Given the description of an element on the screen output the (x, y) to click on. 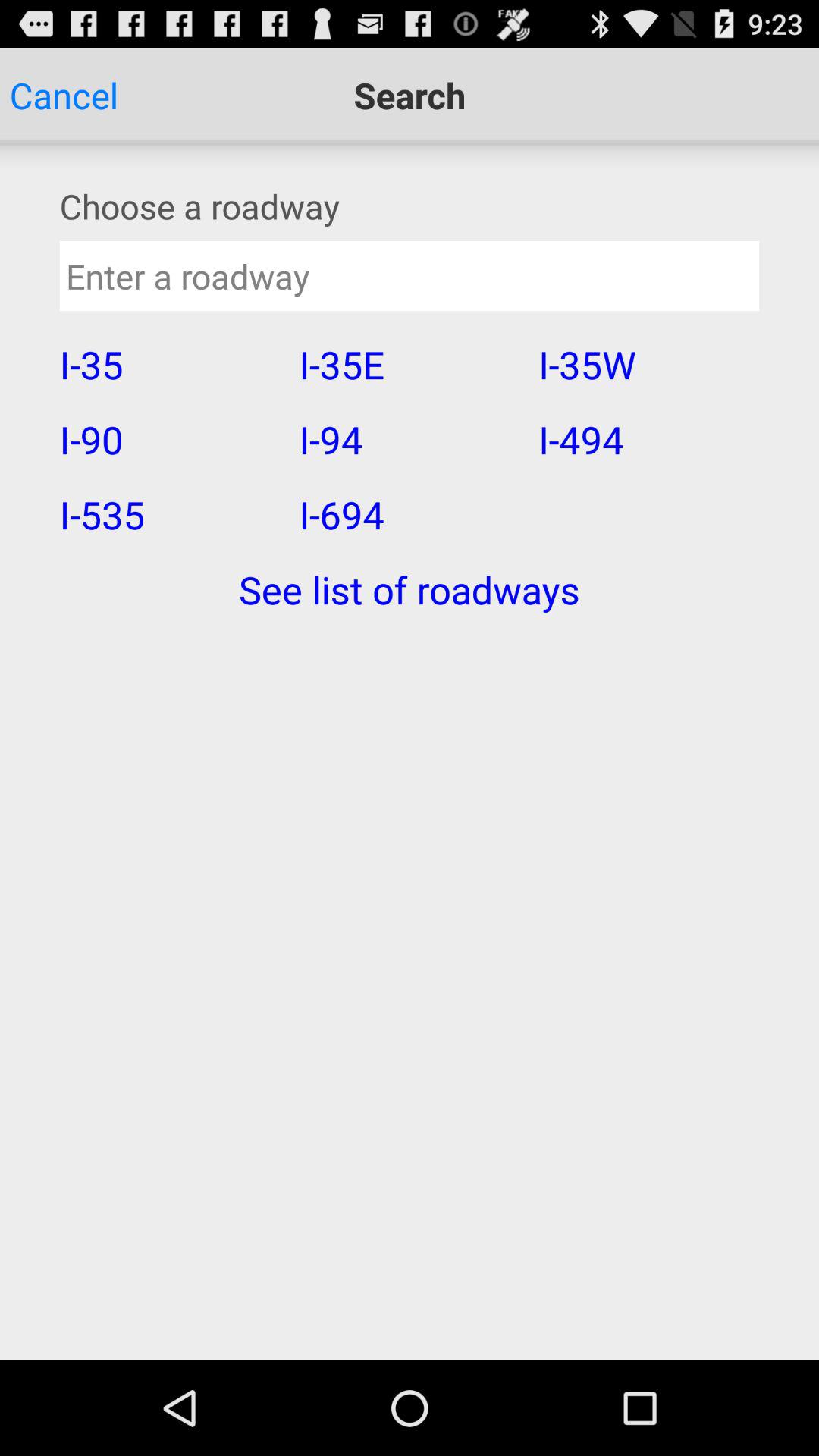
press the icon next to i-35e item (648, 439)
